Given the description of an element on the screen output the (x, y) to click on. 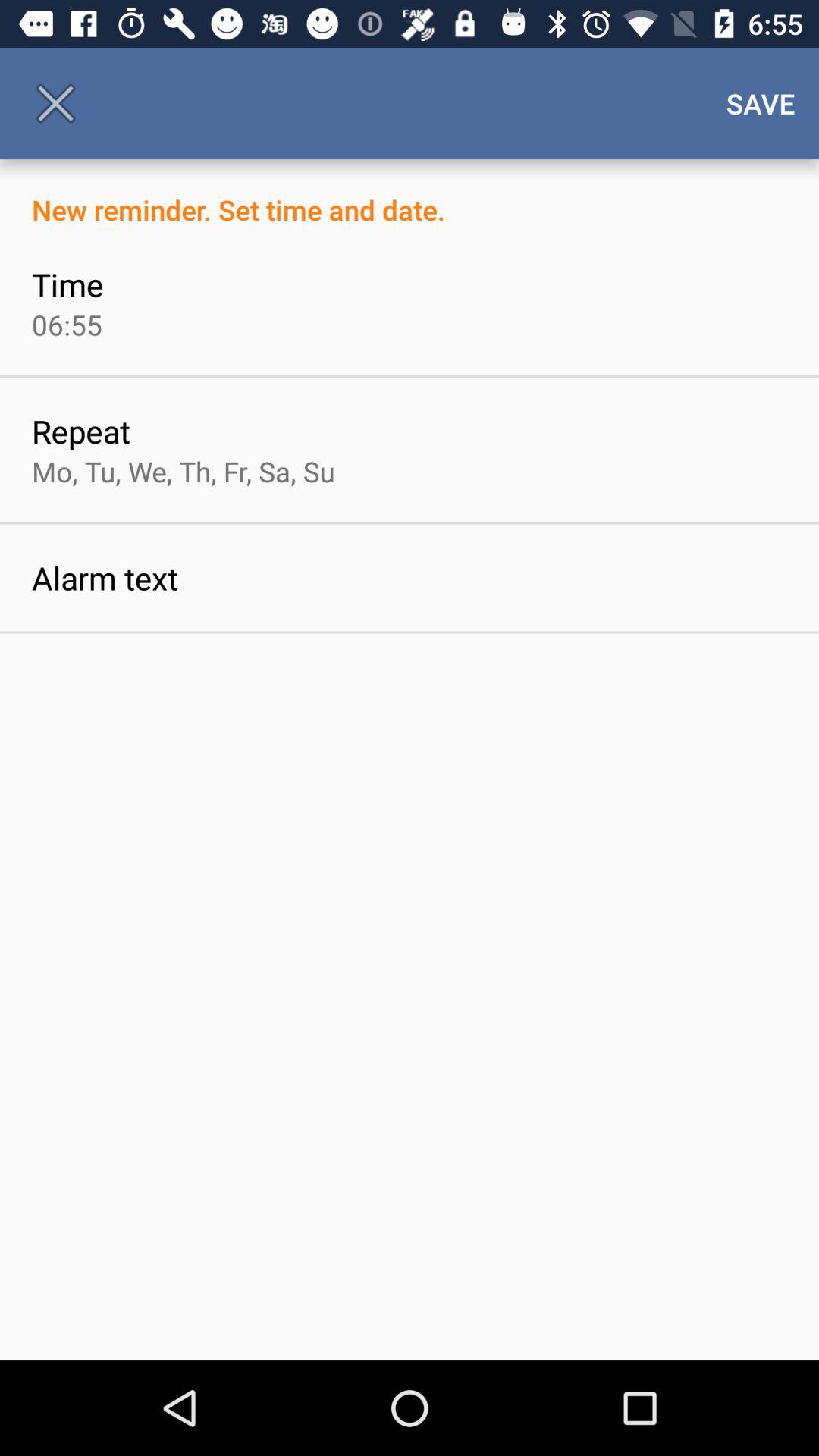
press the icon to the left of the save item (55, 103)
